Given the description of an element on the screen output the (x, y) to click on. 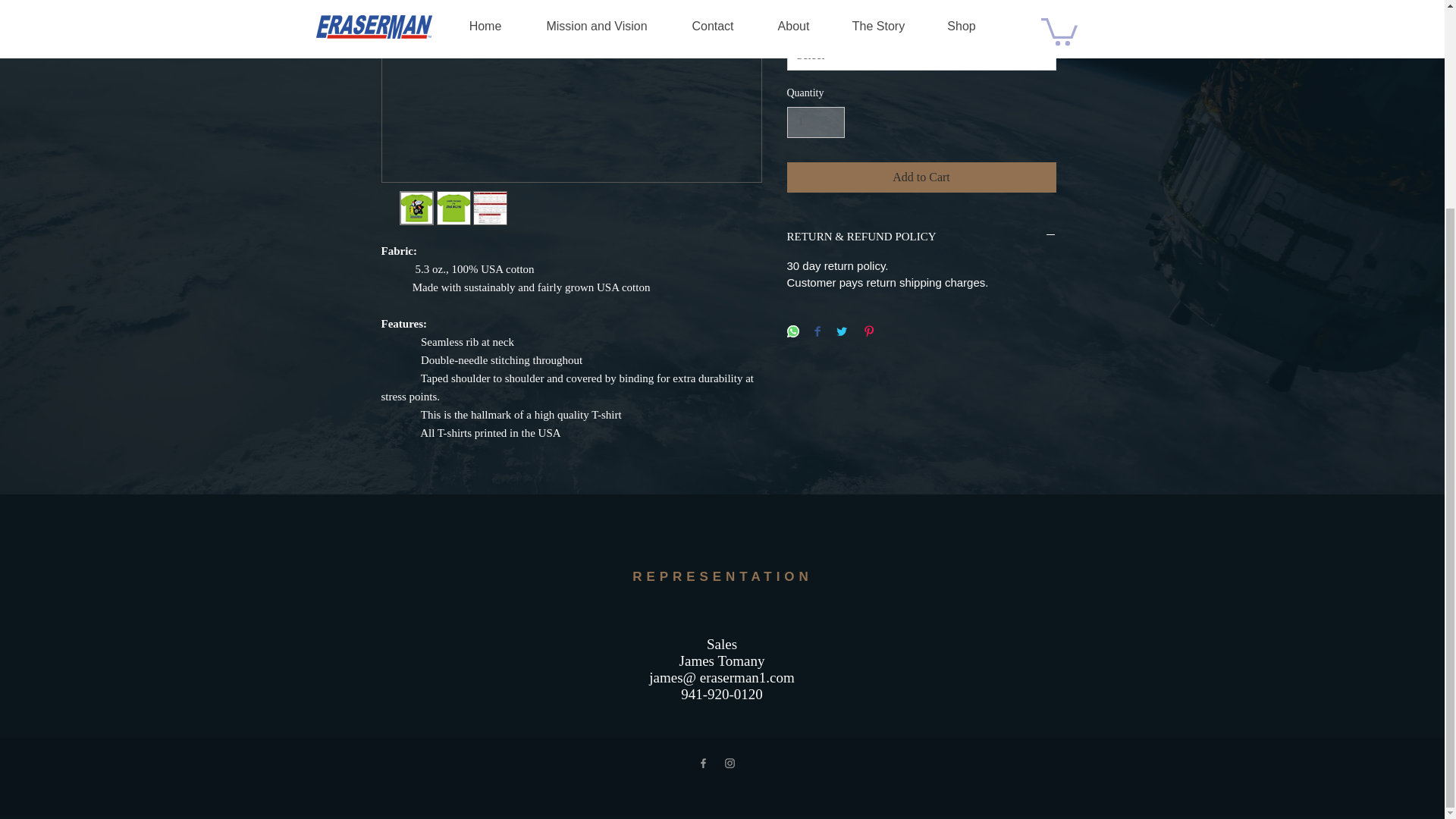
1 (815, 122)
Select (922, 55)
Add to Cart (922, 177)
